Given the description of an element on the screen output the (x, y) to click on. 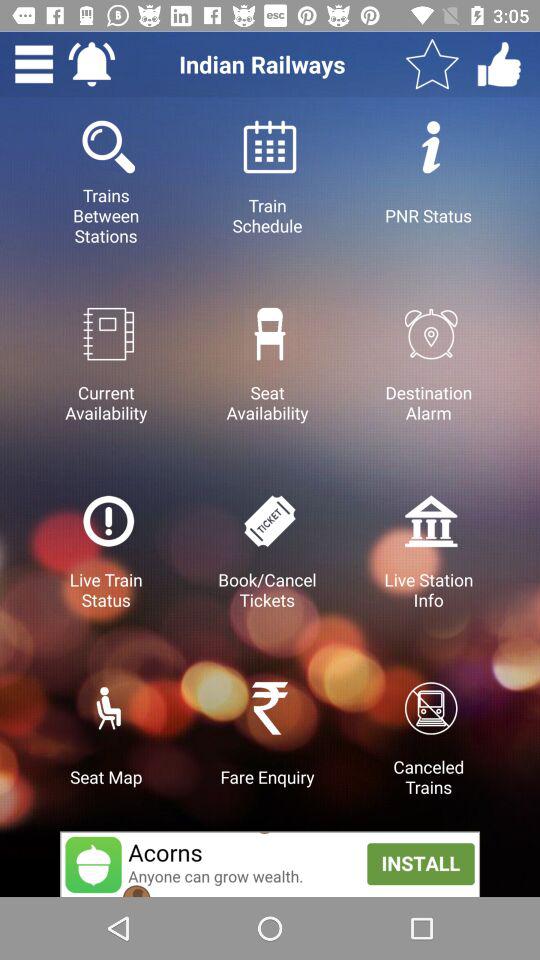
press the favorite icon (432, 63)
